Given the description of an element on the screen output the (x, y) to click on. 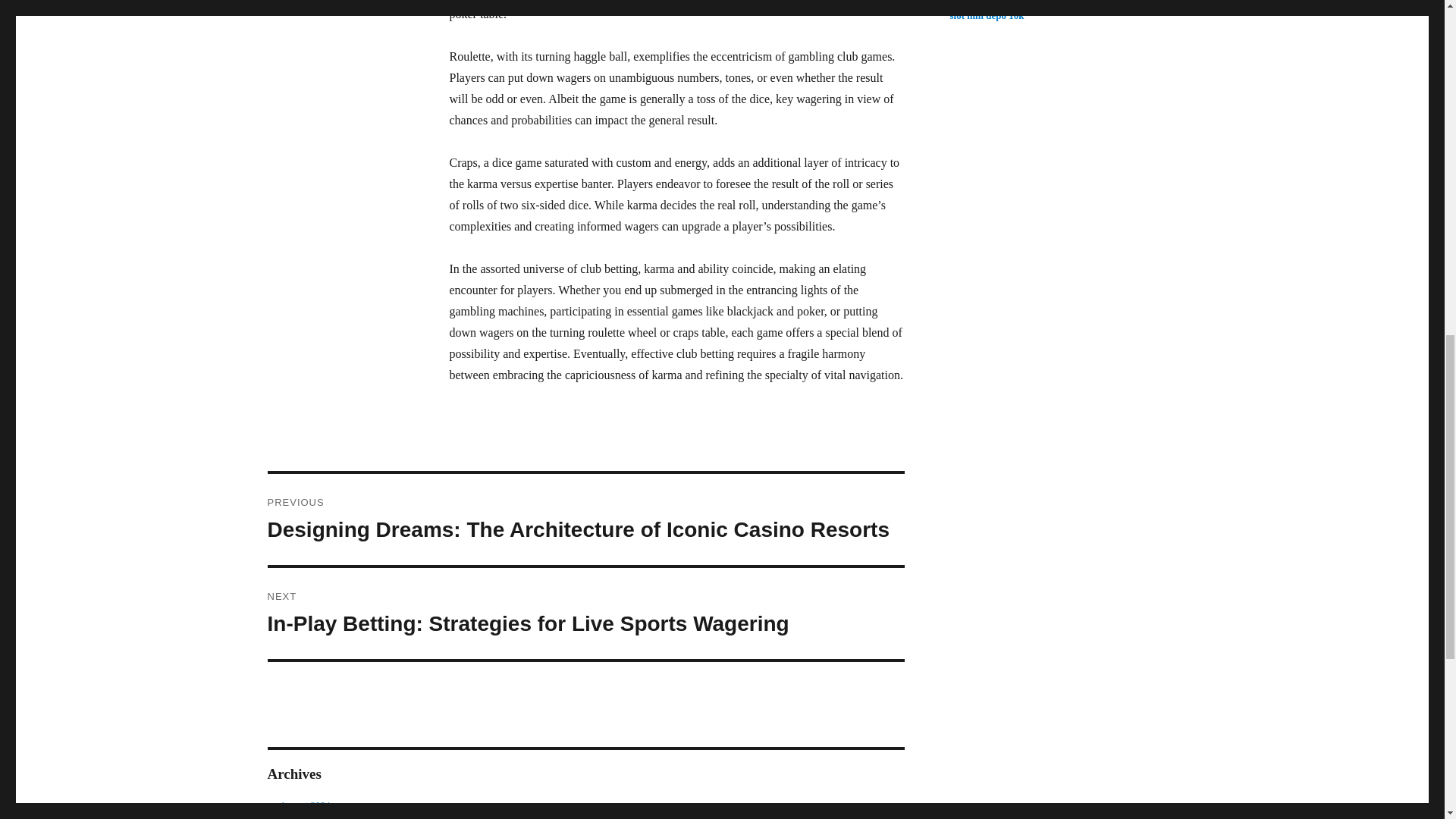
August 2024 (304, 804)
June 2024 (299, 816)
slot min depo 10k (986, 15)
